Given the description of an element on the screen output the (x, y) to click on. 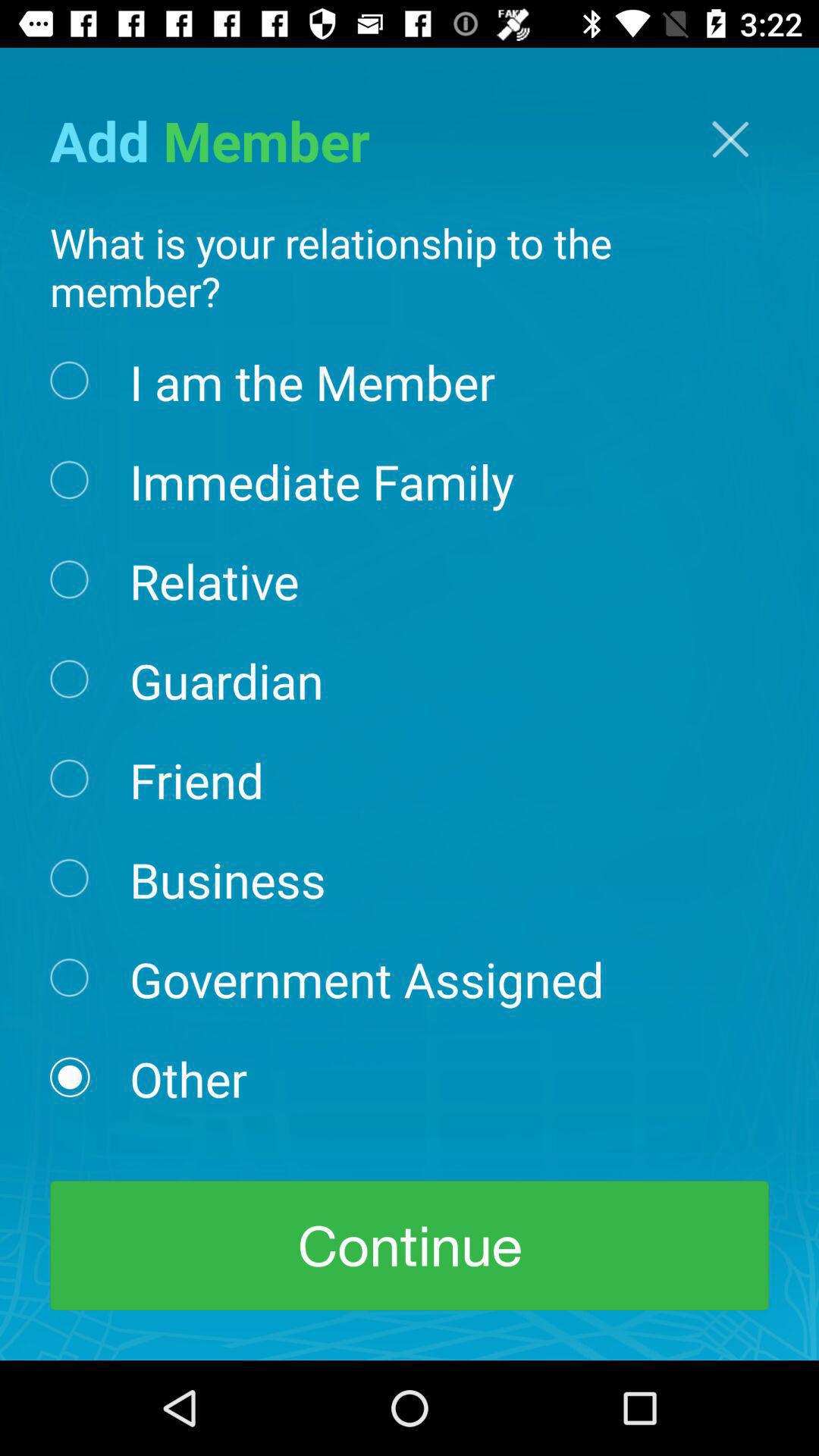
turn off item above the other (366, 977)
